Given the description of an element on the screen output the (x, y) to click on. 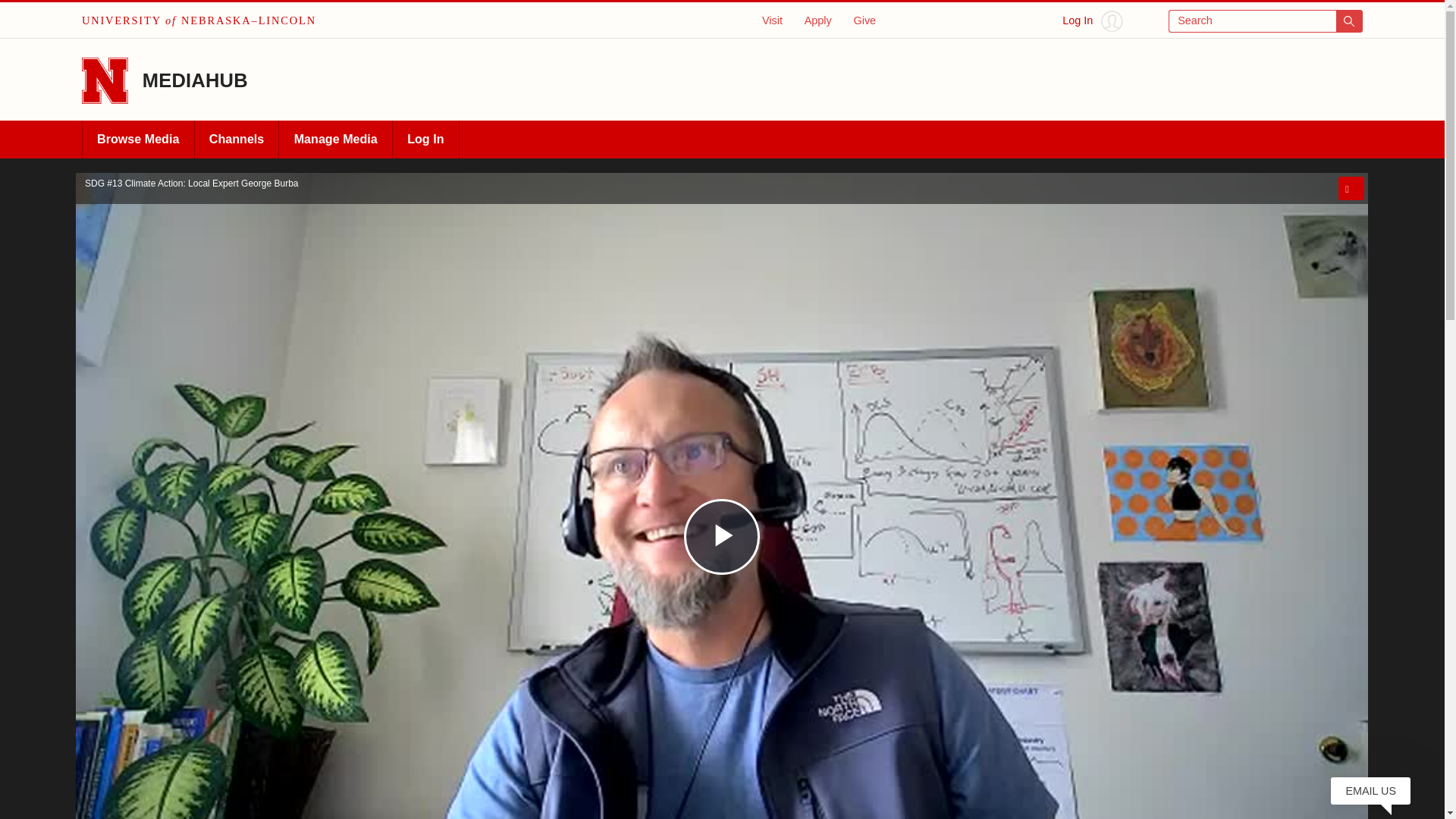
Log In (1092, 21)
Skip to main content (19, 16)
Manage Media (335, 139)
MEDIAHUB (194, 79)
Browse Media (137, 139)
Log In (425, 139)
Visit (772, 20)
Give (864, 20)
Apply (818, 20)
Channels (237, 139)
Search (1265, 21)
